Given the description of an element on the screen output the (x, y) to click on. 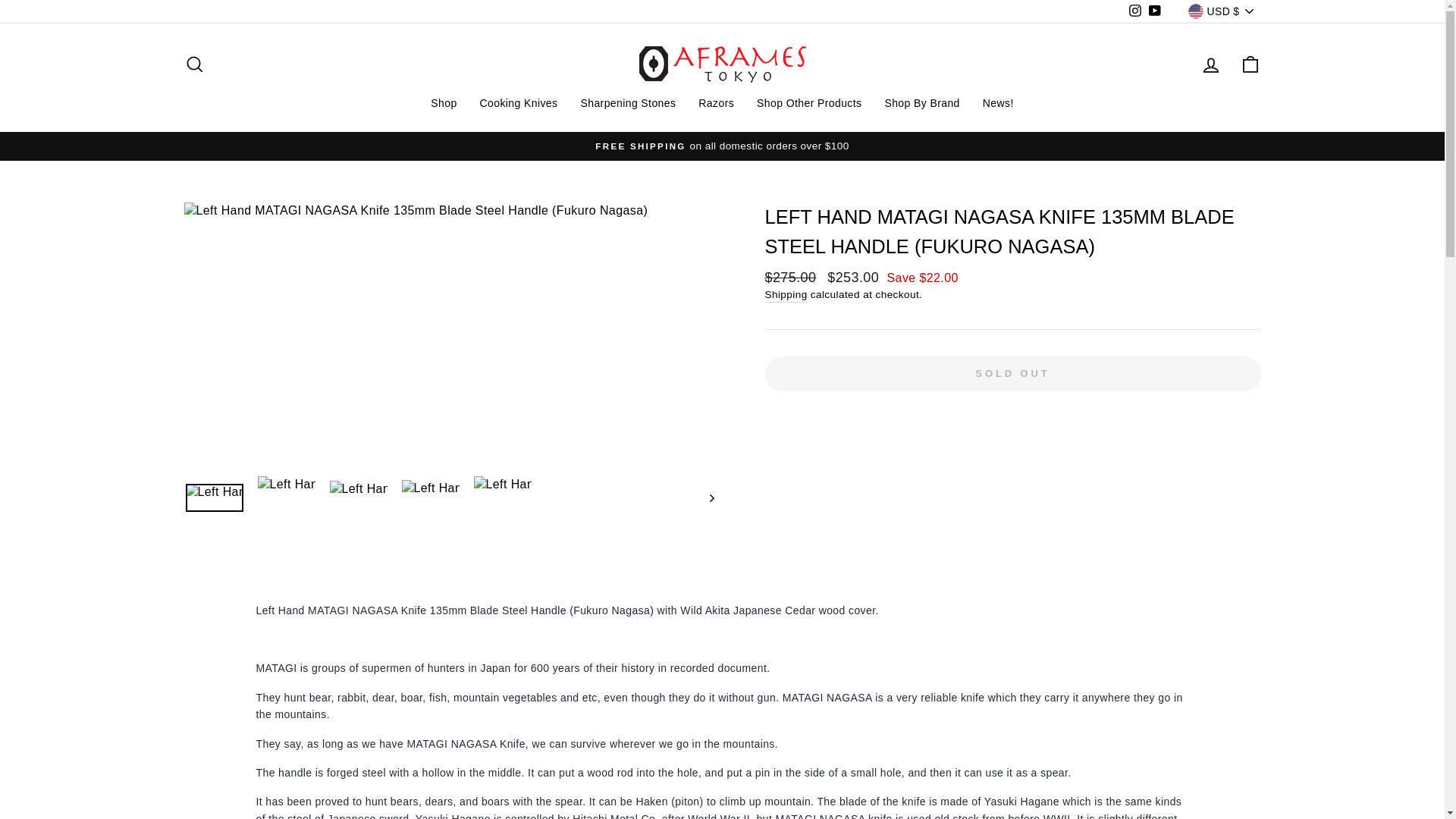
Aframes Tokyo on Instagram (1134, 11)
Aframes Tokyo on YouTube (1154, 11)
